Given the description of an element on the screen output the (x, y) to click on. 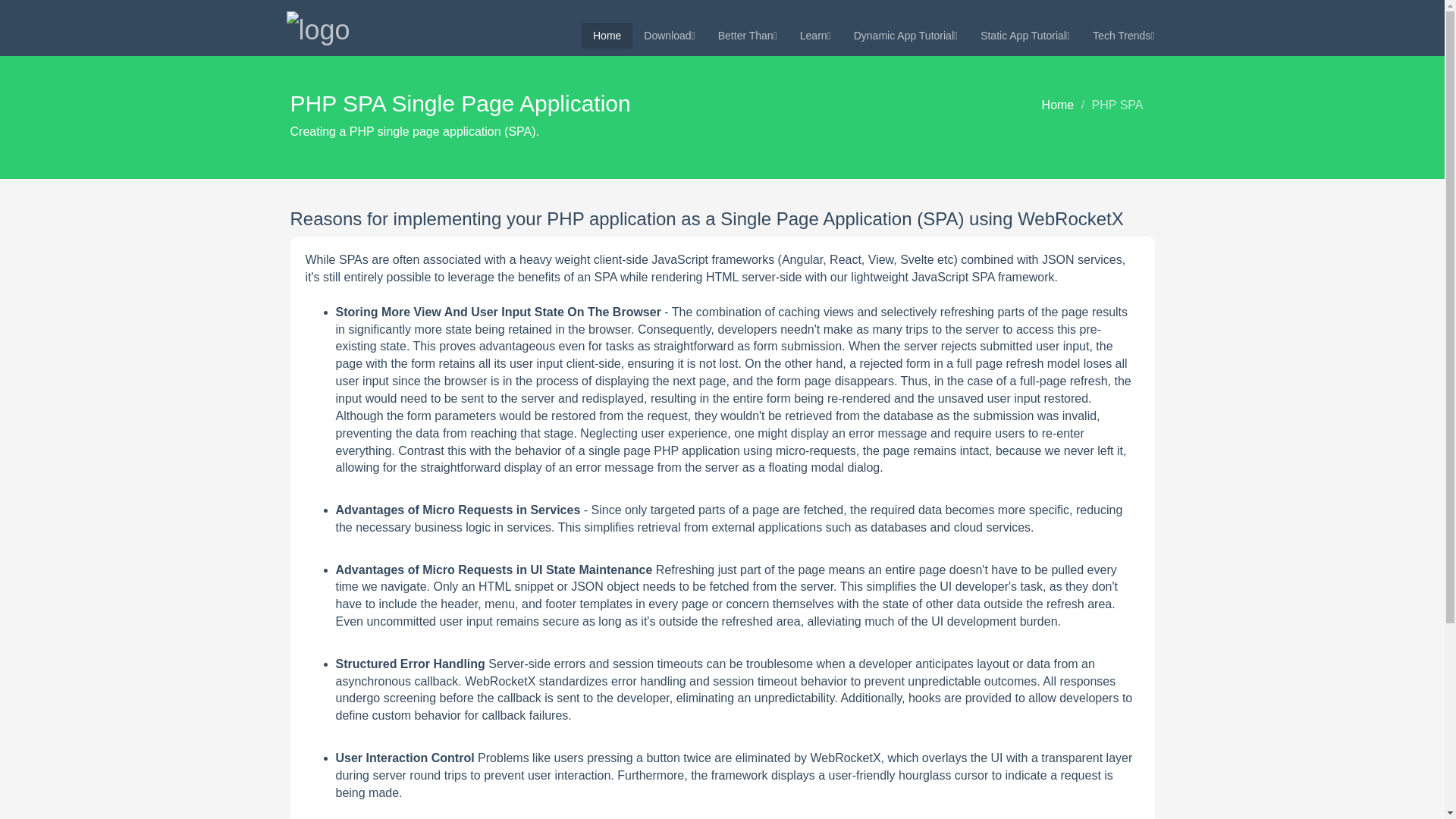
Dynamic App Tutorial (906, 35)
Static App Tutorial (1025, 35)
Home (605, 35)
Download (668, 35)
Better Than (747, 35)
Learn (816, 35)
Tech Trends (1123, 35)
